Given the description of an element on the screen output the (x, y) to click on. 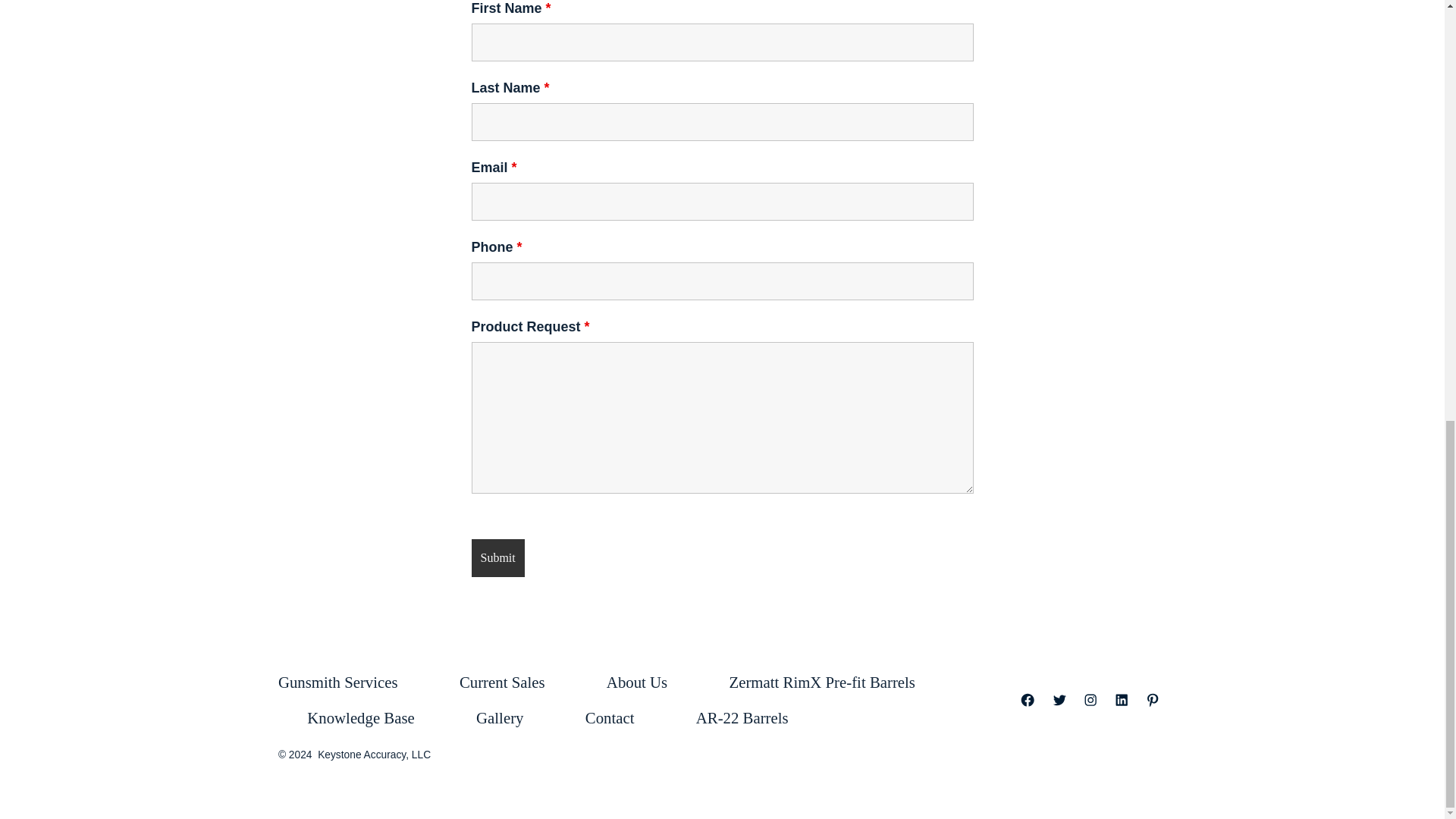
Contact (609, 718)
About Us (635, 683)
Current Sales (501, 683)
Open Instagram in a new tab (1090, 699)
Open Pinterest in a new tab (1152, 699)
AR-22 Barrels (741, 718)
Gallery (499, 718)
Open Facebook in a new tab (1027, 699)
Submit (497, 557)
Open LinkedIn in a new tab (1121, 699)
Gunsmith Services (352, 683)
Submit (497, 557)
Open Twitter in a new tab (1059, 699)
Knowledge Base (361, 718)
Zermatt RimX Pre-fit Barrels (821, 683)
